Given the description of an element on the screen output the (x, y) to click on. 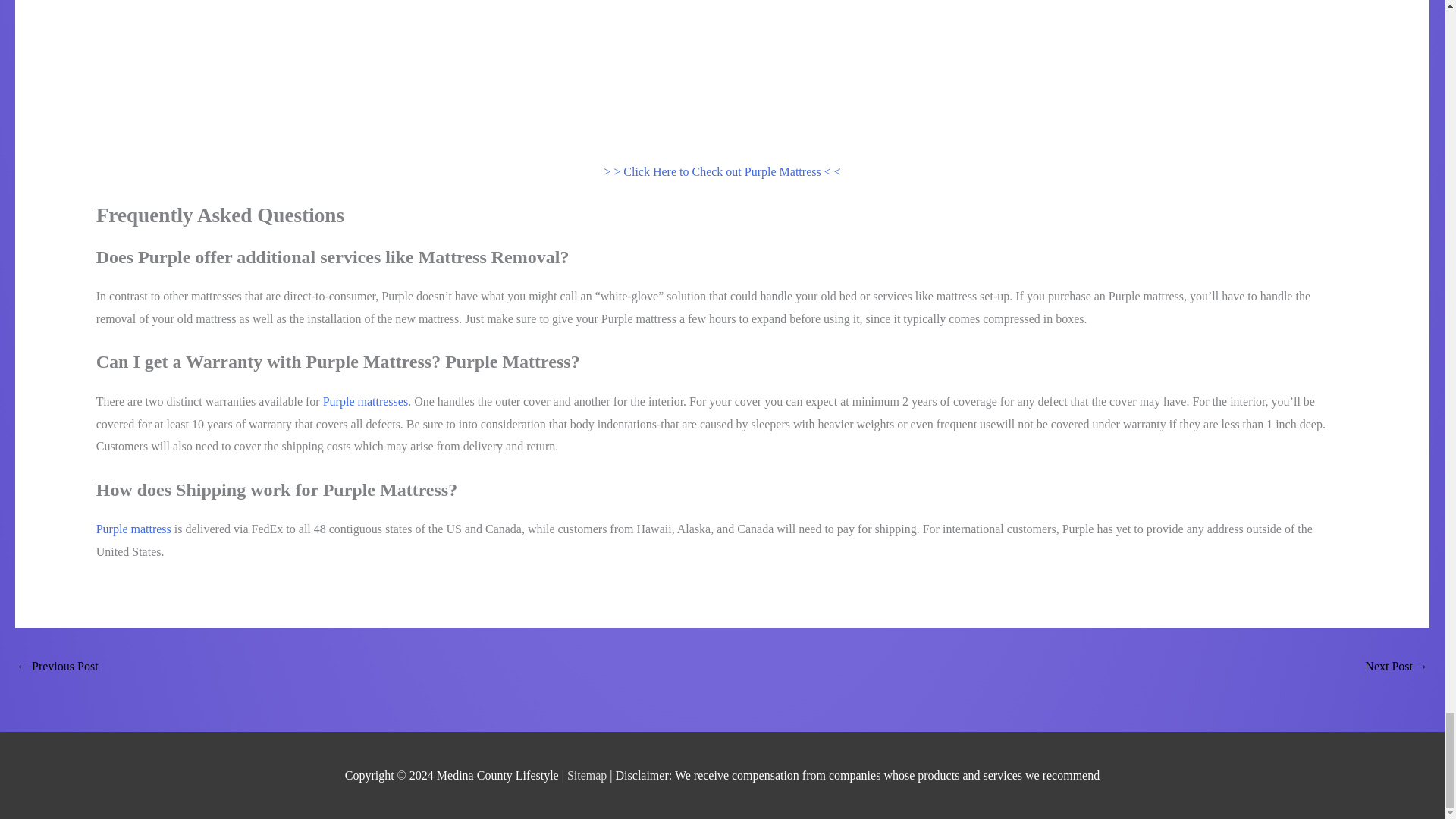
Purple Mattress Address (1396, 667)
Purple mattress (133, 528)
Sitemap (588, 775)
Price Of King Size Purple Mattress (57, 667)
Purple mattresses (365, 400)
